Given the description of an element on the screen output the (x, y) to click on. 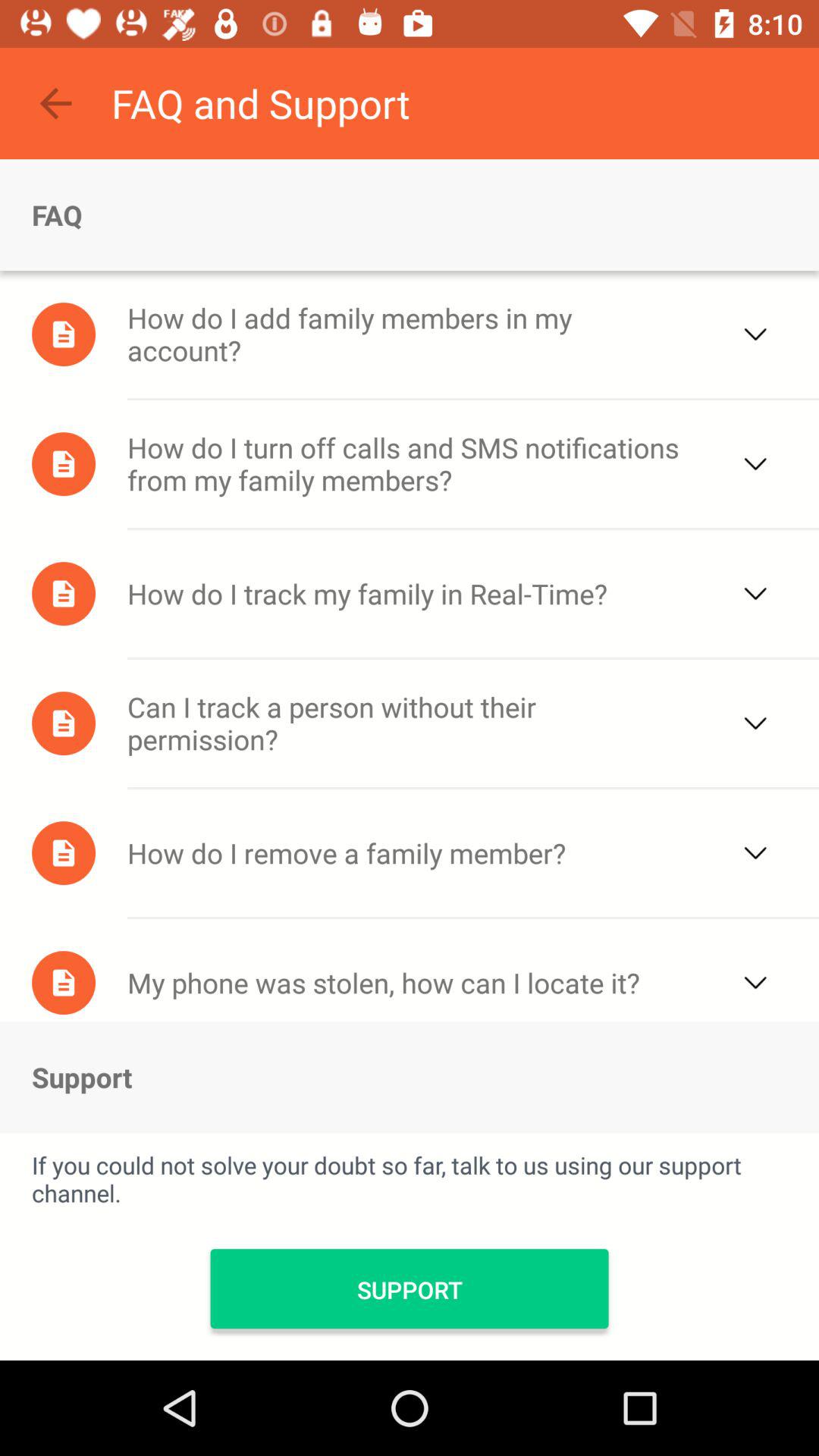
click the item to the left of faq and support icon (55, 103)
